Given the description of an element on the screen output the (x, y) to click on. 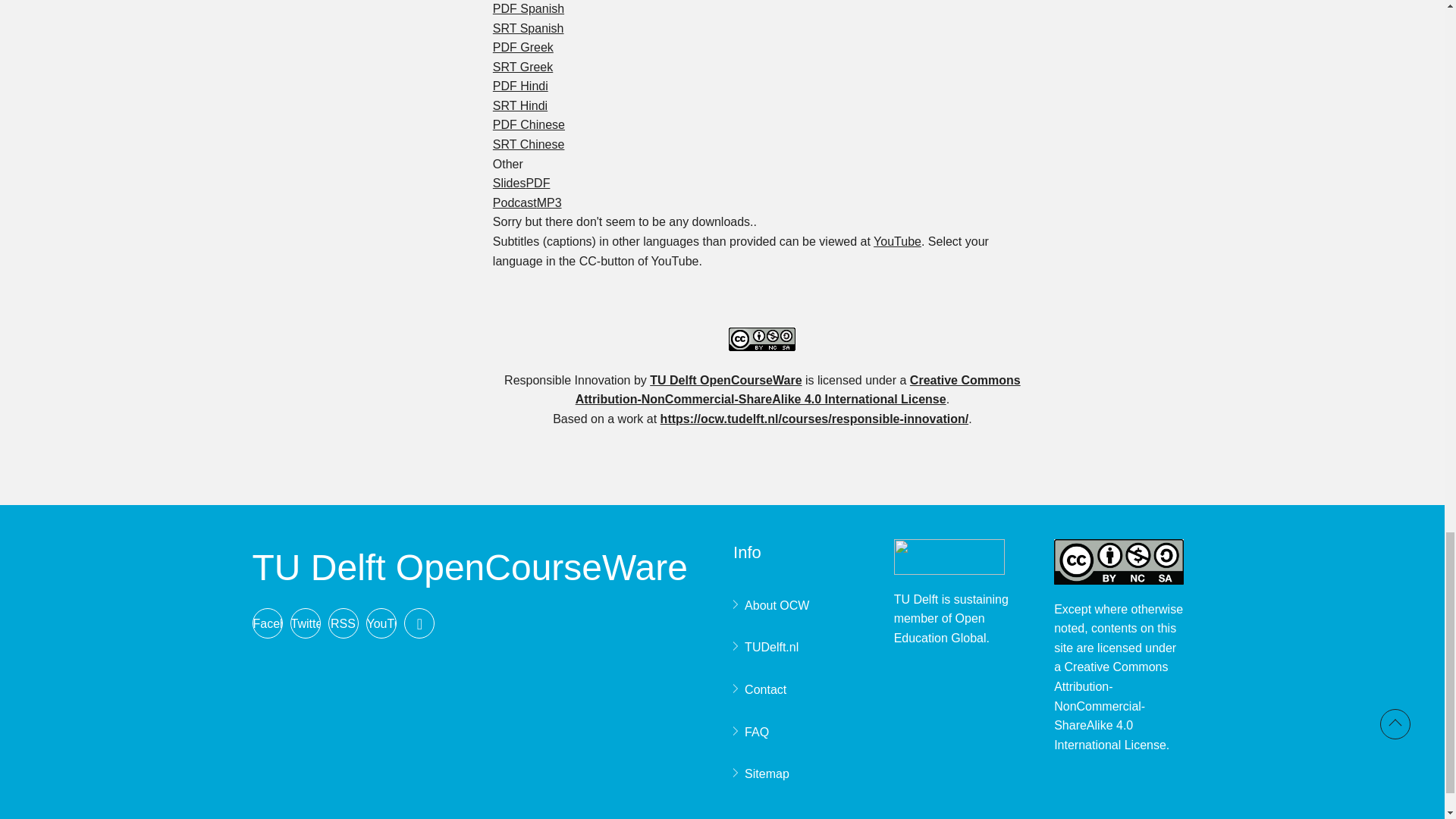
YouTube.com (897, 241)
